Given the description of an element on the screen output the (x, y) to click on. 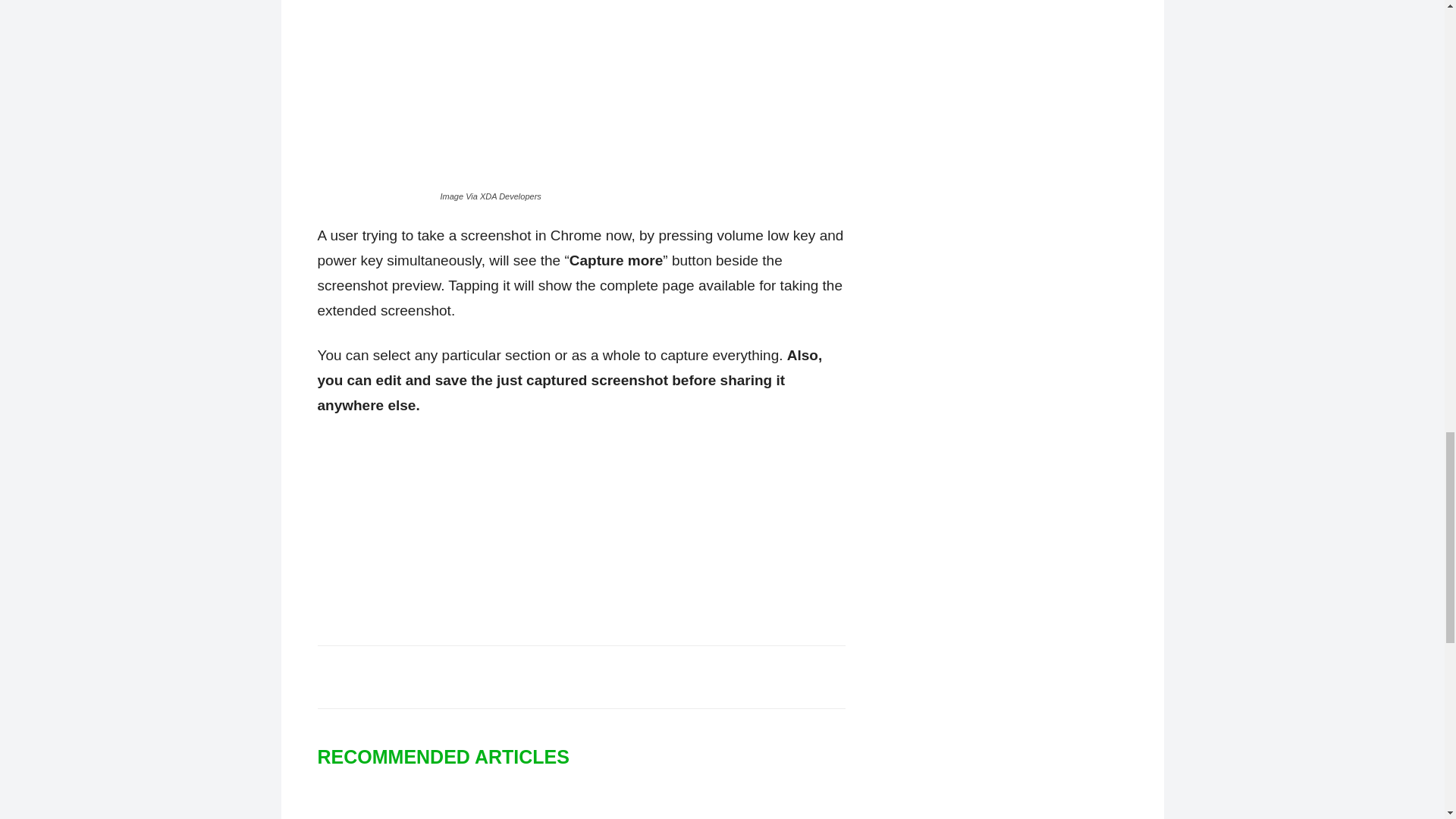
RECOMMENDED ARTICLES (450, 757)
